Given the description of an element on the screen output the (x, y) to click on. 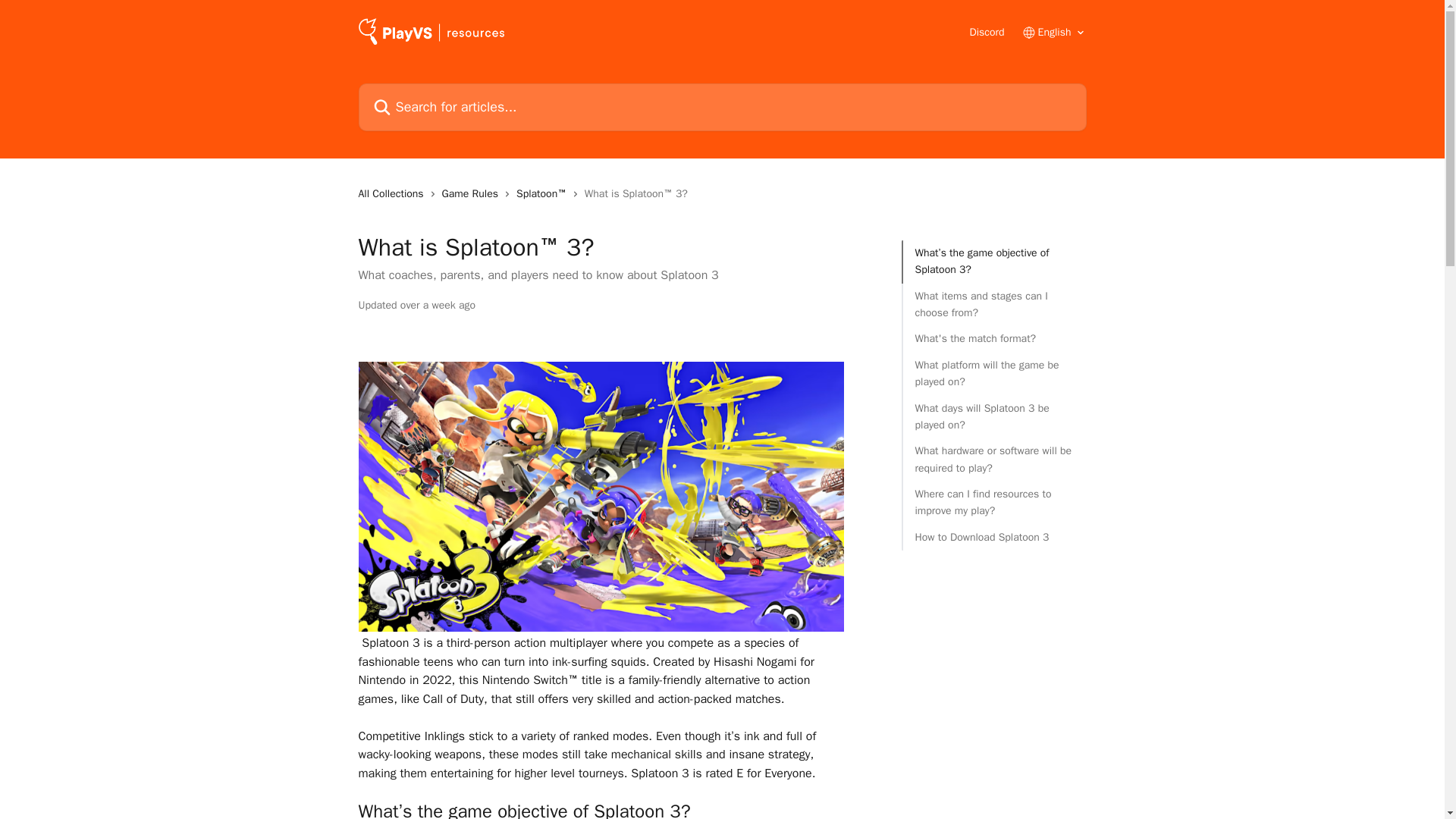
All Collections (393, 193)
Where can I find resources to improve my play? (994, 503)
What's the match format? (994, 338)
What hardware or software will be required to play? (994, 459)
What days will Splatoon 3 be played on? (994, 417)
What items and stages can I choose from? (994, 305)
Game Rules (472, 193)
What platform will the game be played on? (994, 374)
How to Download Splatoon 3 (994, 537)
Discord (986, 32)
